Given the description of an element on the screen output the (x, y) to click on. 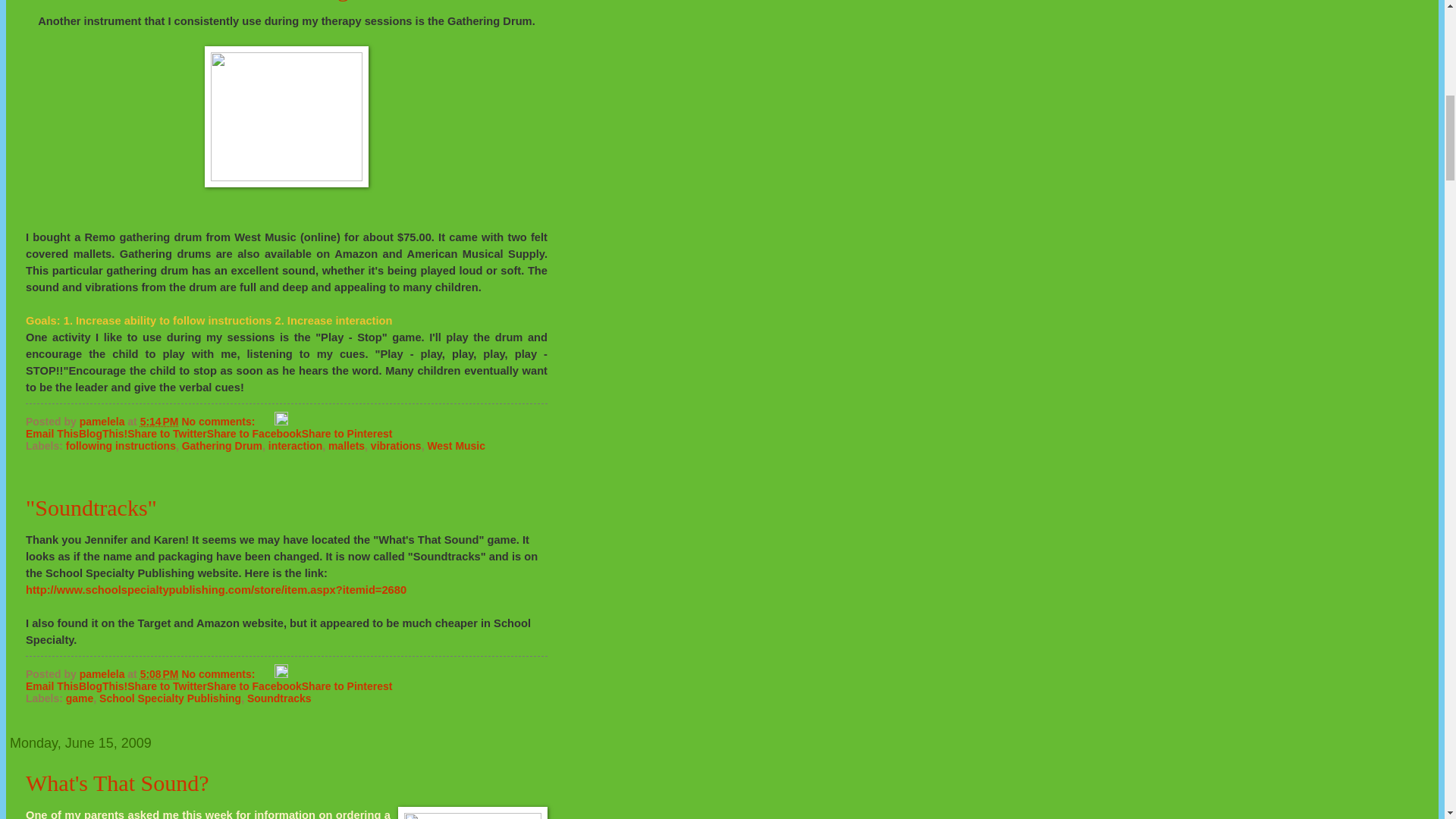
No comments: (218, 421)
Email Post (266, 421)
Email This (52, 433)
pamelela (104, 421)
Edit Post (281, 421)
BlogThis! (103, 433)
BlogThis! (103, 433)
permanent link (159, 421)
author profile (104, 421)
Email This (52, 433)
Share to Twitter (167, 433)
